Given the description of an element on the screen output the (x, y) to click on. 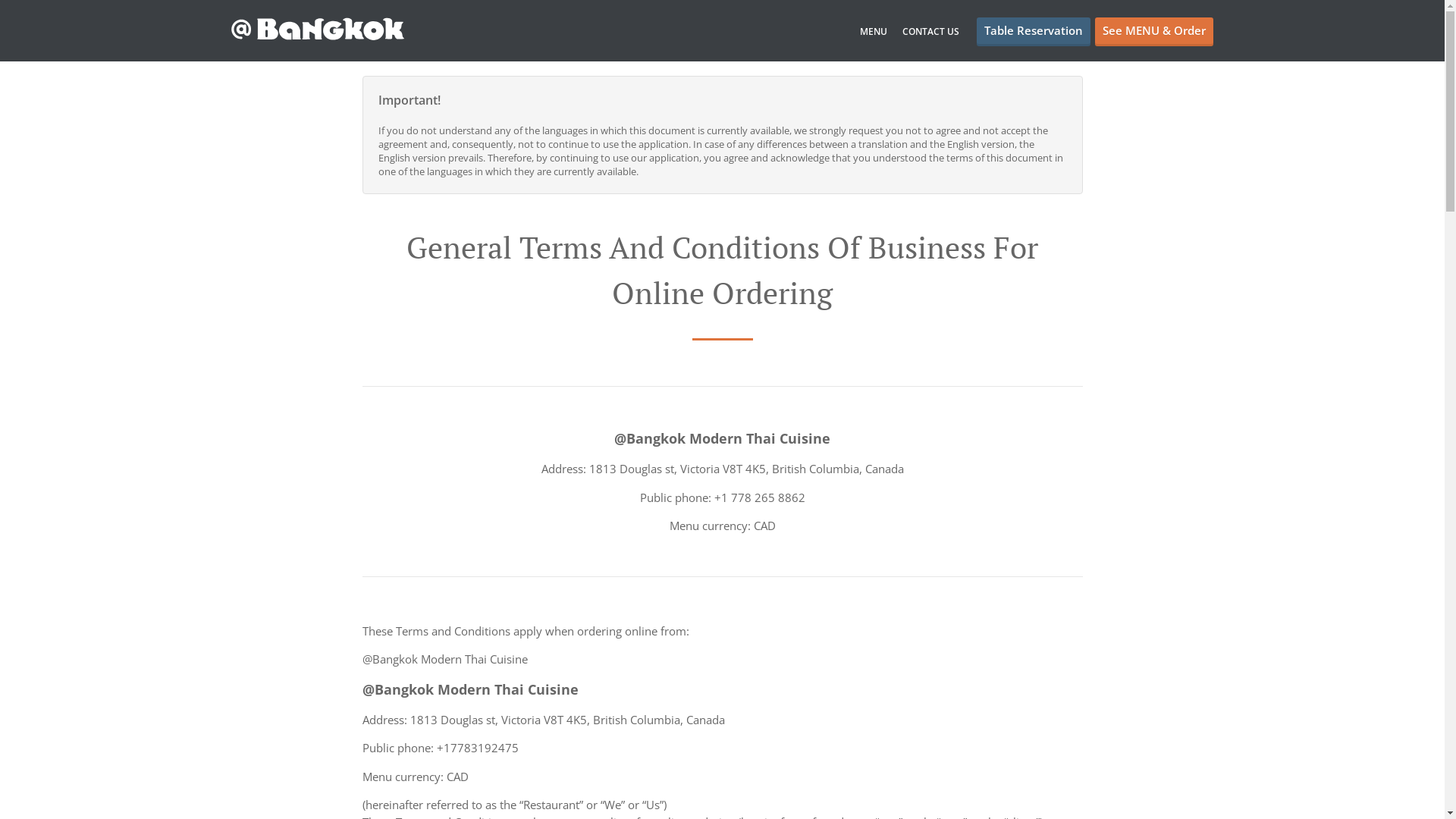
MENU Element type: text (873, 31)
CONTACT US Element type: text (930, 31)
